Given the description of an element on the screen output the (x, y) to click on. 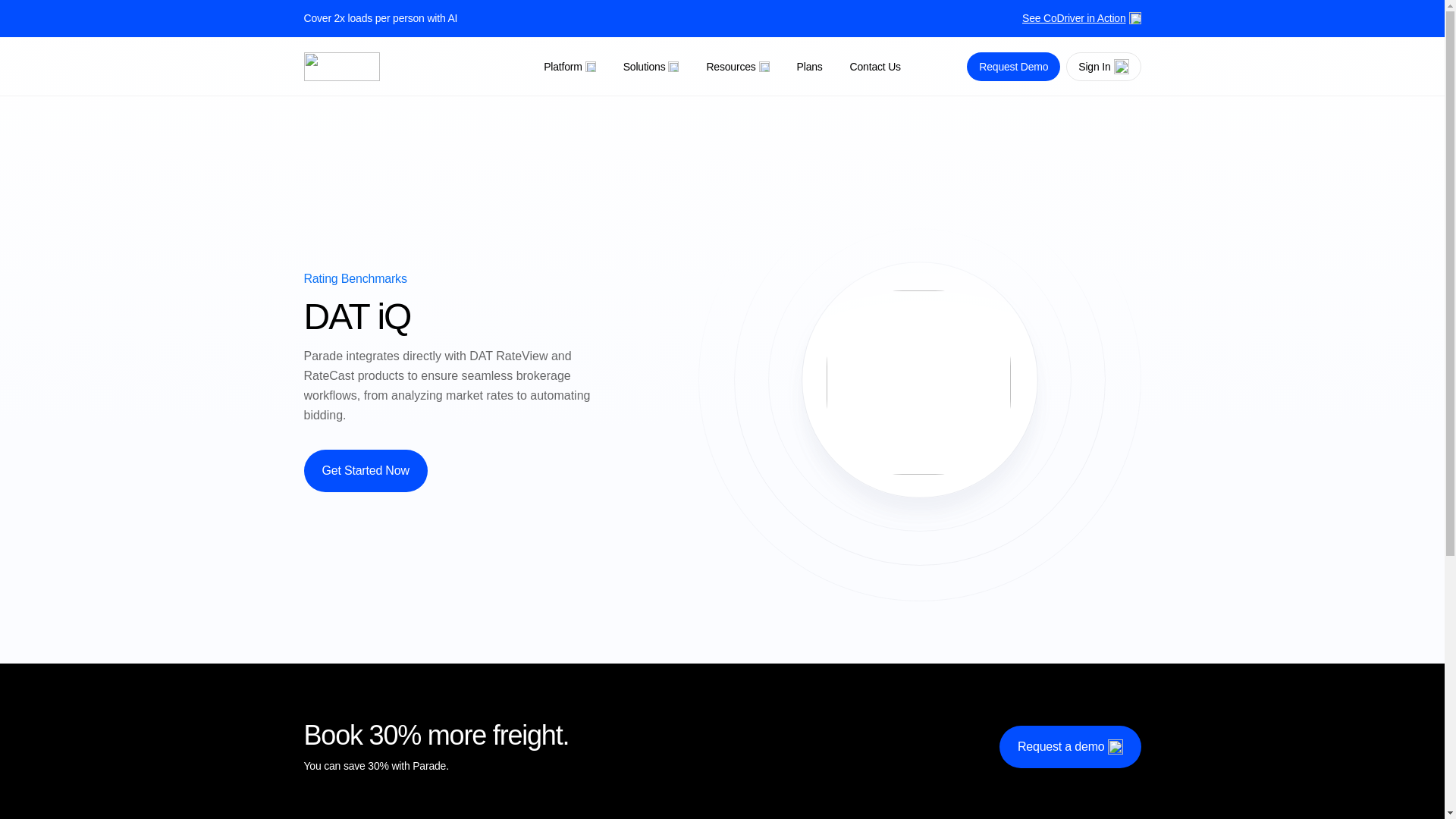
Request Demo (1012, 66)
Get Started Now (364, 470)
Platform (569, 66)
Request a demo (1069, 746)
Resources (737, 66)
Solutions (651, 66)
Contact Us (875, 66)
Plans (809, 66)
Sign In (1102, 66)
